Given the description of an element on the screen output the (x, y) to click on. 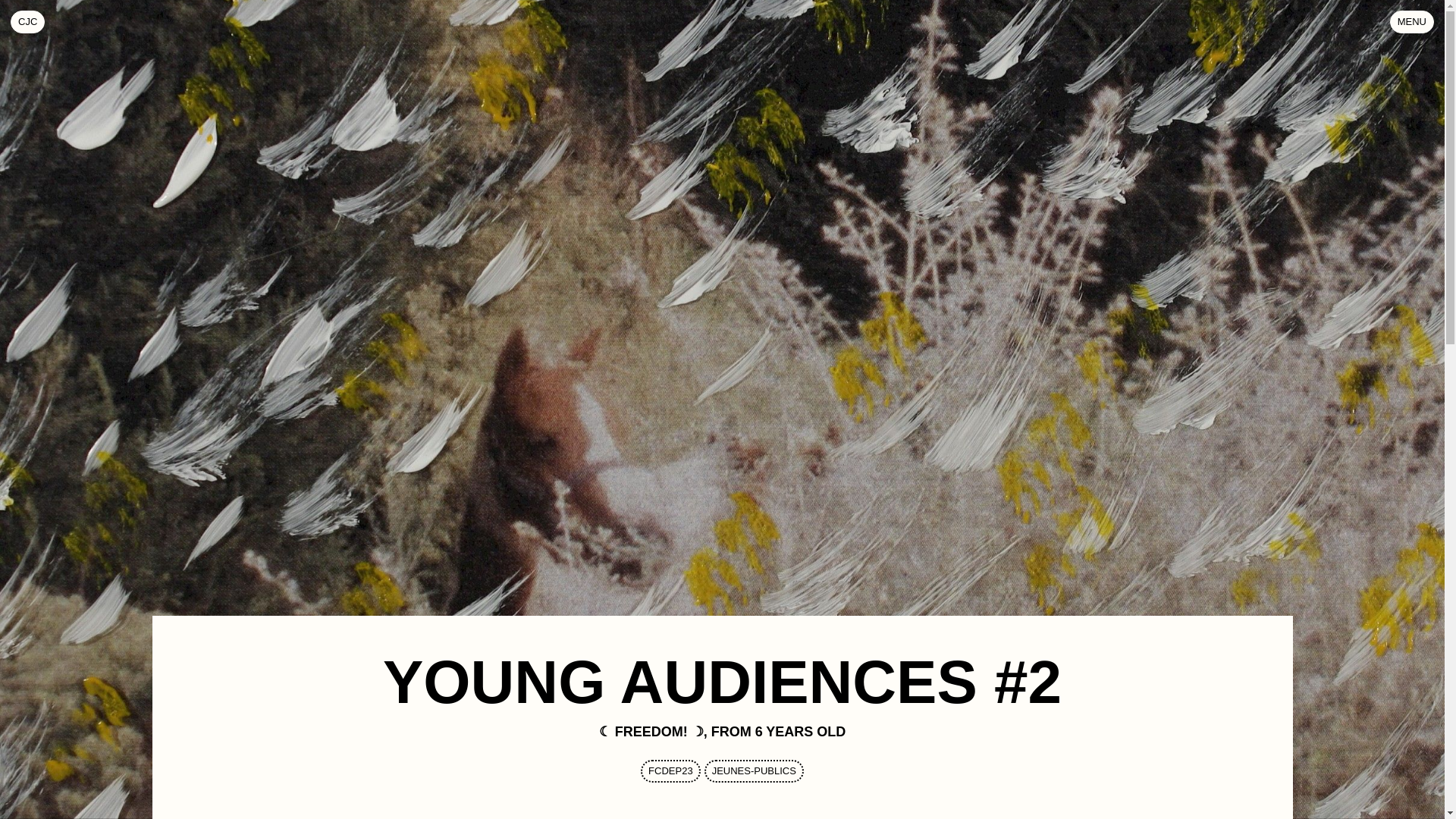
FCDEP23 (670, 771)
JEUNES-PUBLICS (27, 21)
MENU (753, 771)
